Given the description of an element on the screen output the (x, y) to click on. 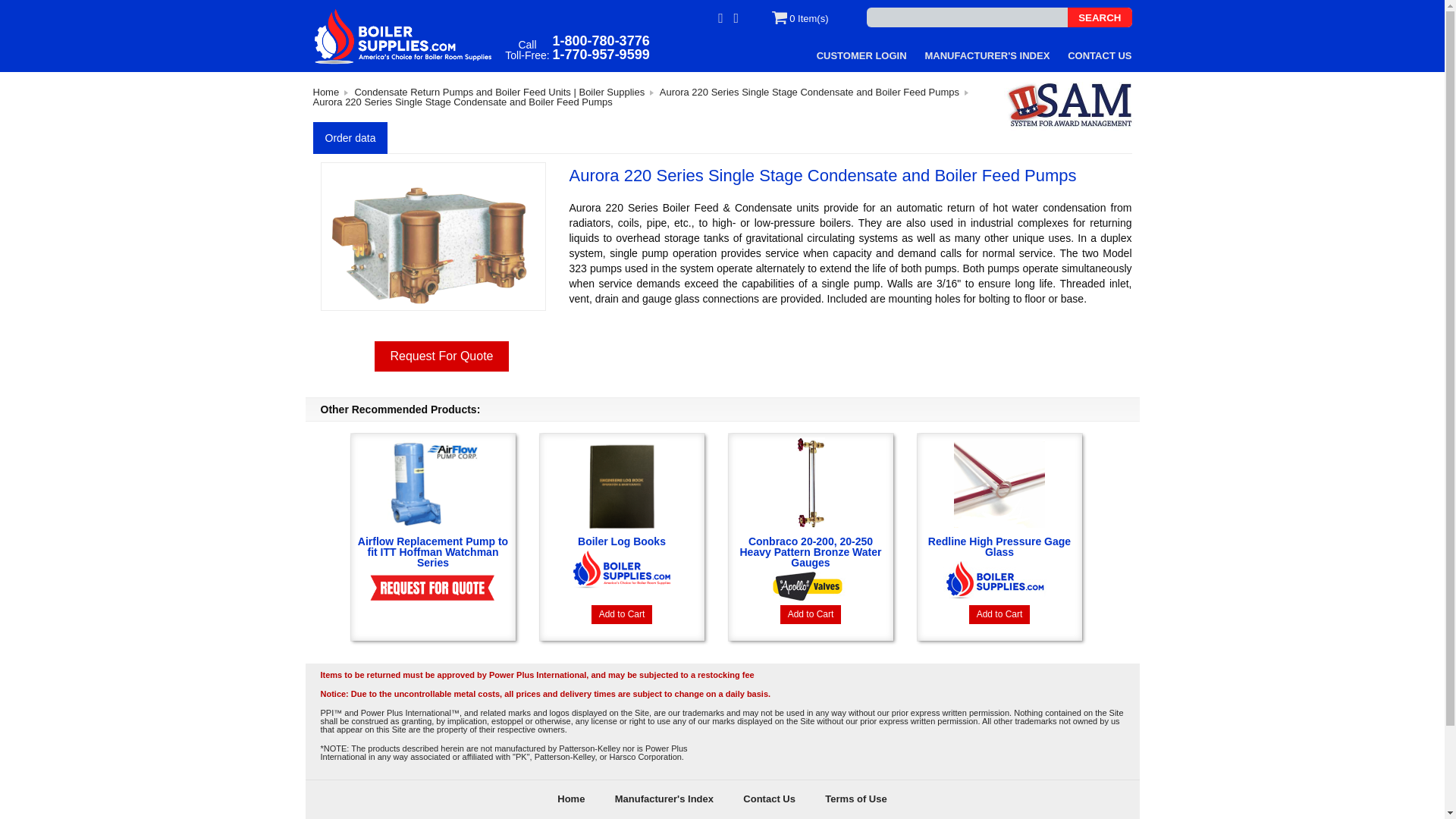
Add to Cart (999, 614)
Home (326, 91)
Airflow Replacement Pump to fit ITT Hoffman Watchman Series (432, 521)
CONTACT US (1098, 55)
Redline High Pressure Gage Glass (999, 516)
1-800-780-3776 (601, 40)
1-770-957-9599 (601, 54)
SEARCH (1099, 17)
MANUFACTURER'S INDEX (987, 55)
CUSTOMER LOGIN (861, 55)
Home (570, 798)
Conbraco 20-200, 20-250 Heavy Pattern Bronze Water Gauges (810, 521)
Add to Cart (621, 614)
Boiler Log Books (622, 511)
